Given the description of an element on the screen output the (x, y) to click on. 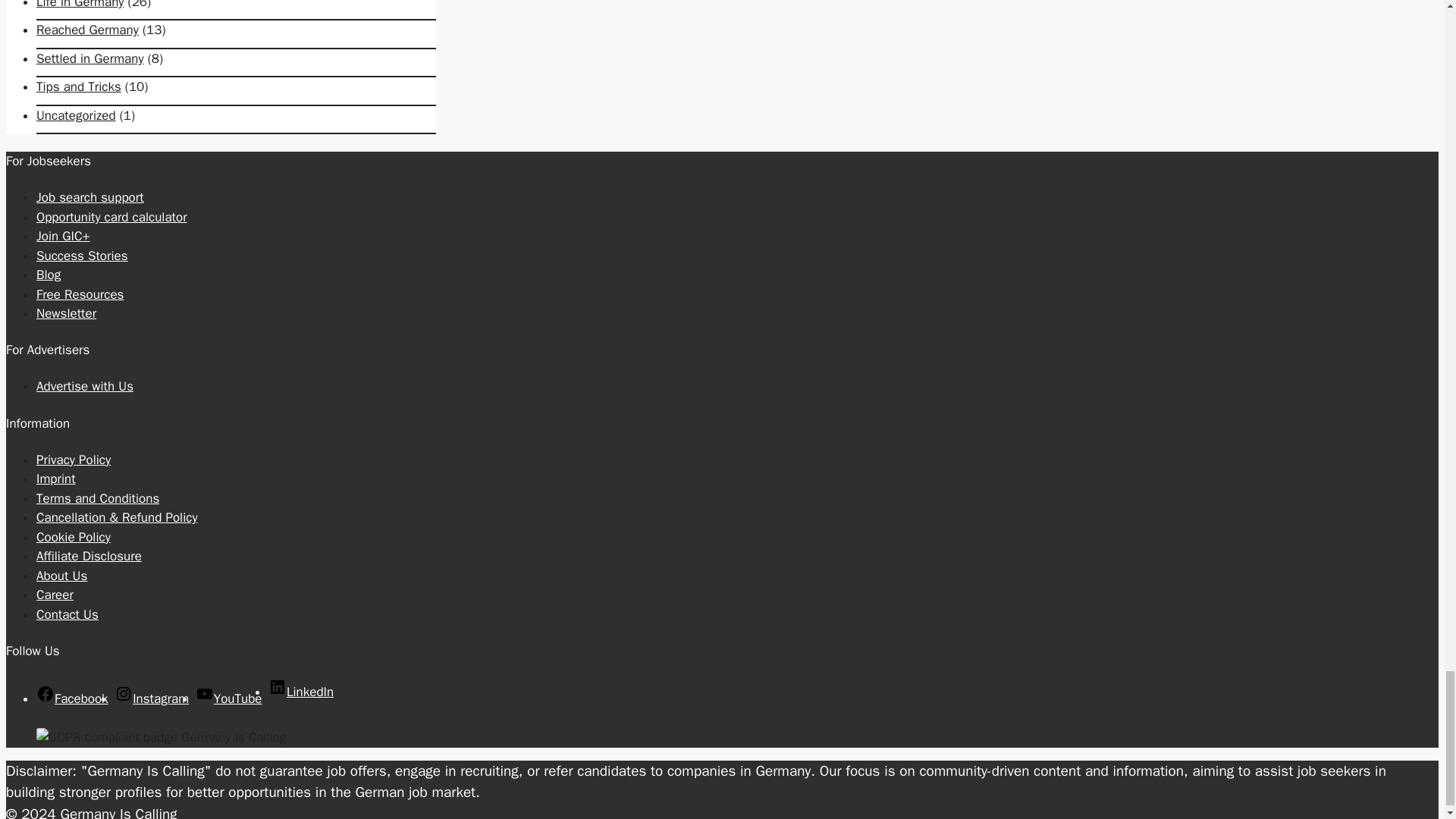
Job search support (90, 197)
Reached Germany (87, 29)
Life in Germany (79, 4)
Settled in Germany (90, 58)
Tips and Tricks (78, 86)
Uncategorized (76, 115)
